Given the description of an element on the screen output the (x, y) to click on. 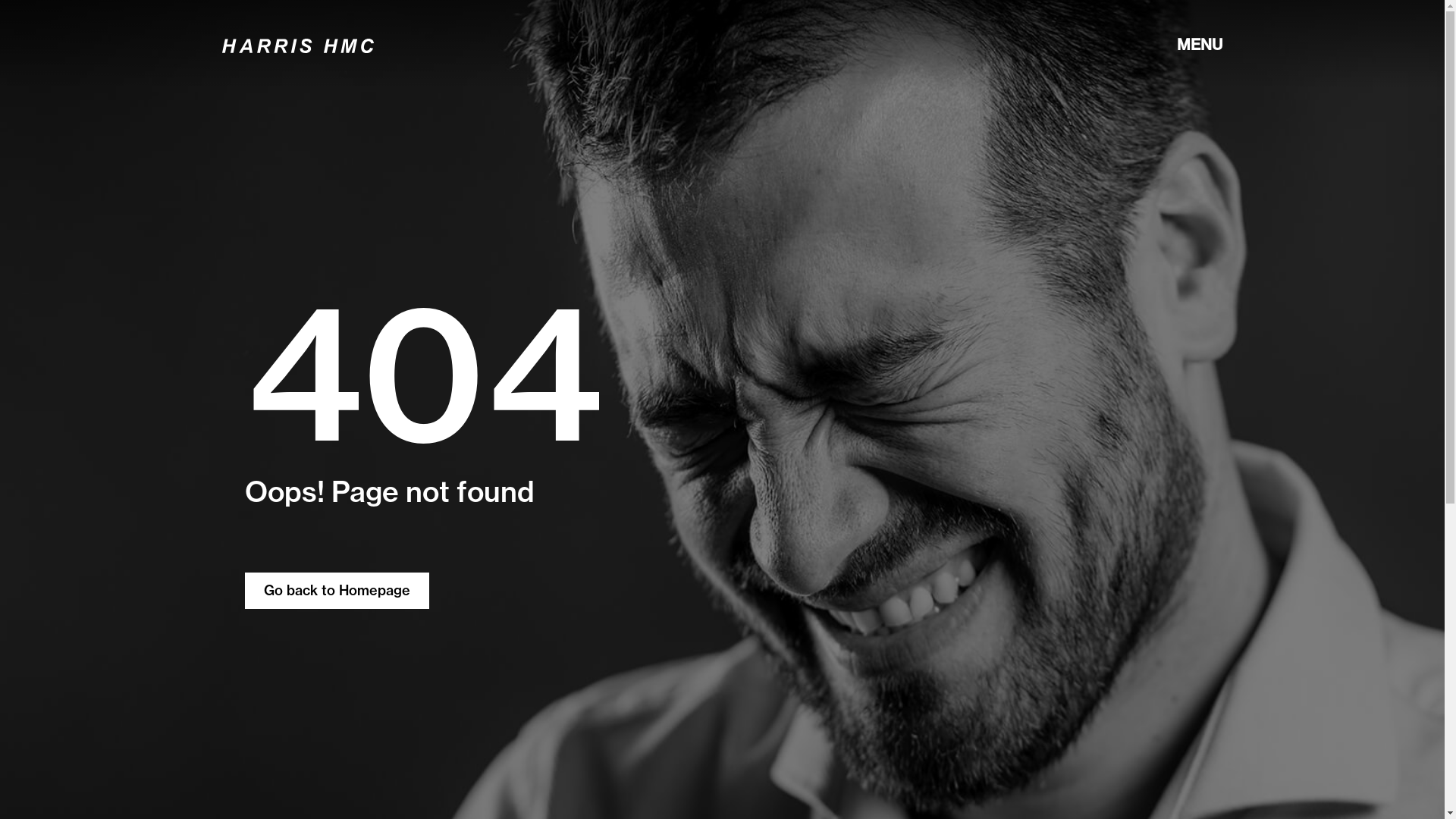
MENU Element type: text (1199, 43)
Go back to Homepage Element type: text (336, 590)
